Given the description of an element on the screen output the (x, y) to click on. 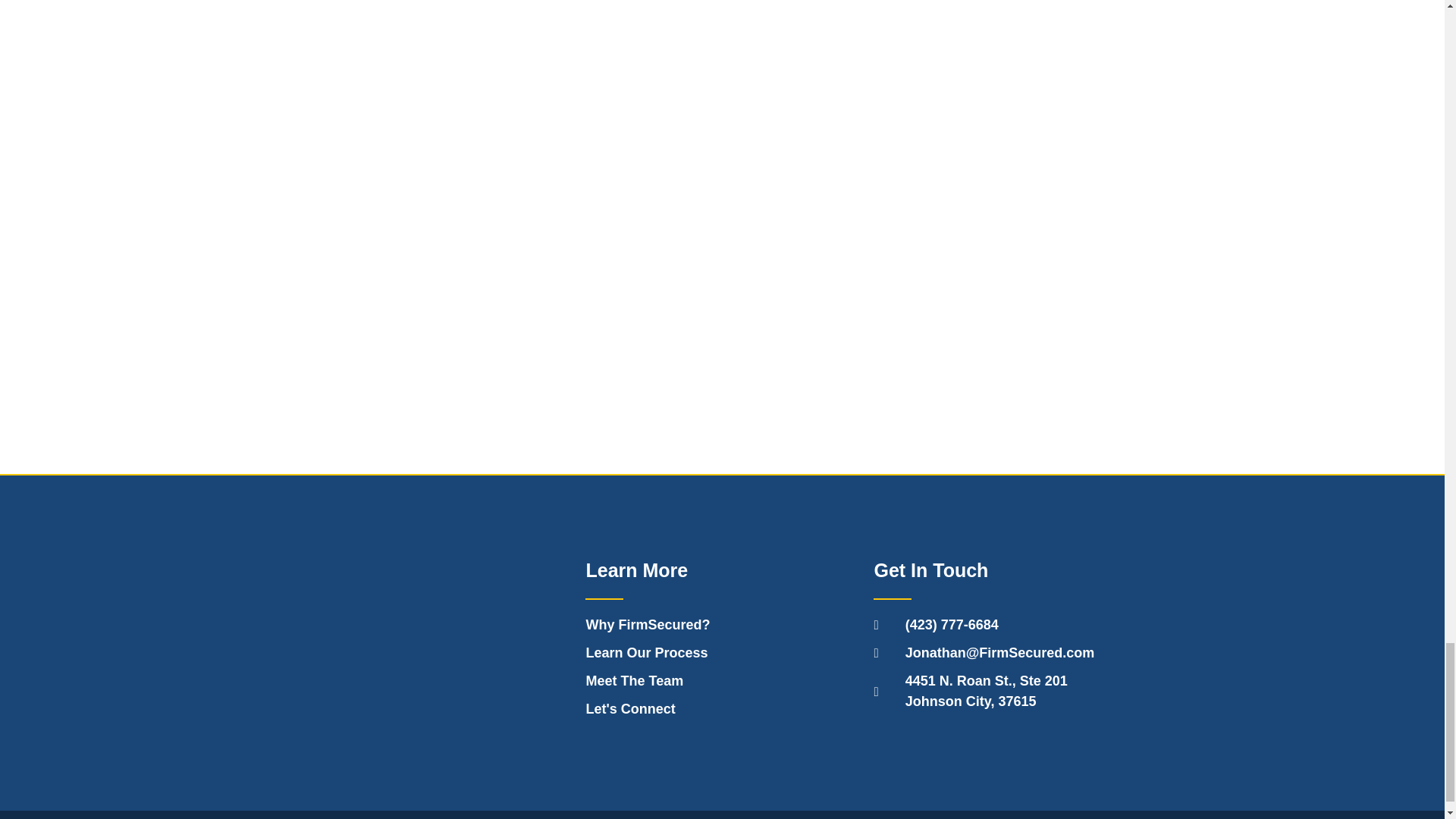
Let's Connect (722, 709)
Meet The Team (722, 680)
Why FirmSecured? (1010, 690)
Learn Our Process (722, 625)
